Given the description of an element on the screen output the (x, y) to click on. 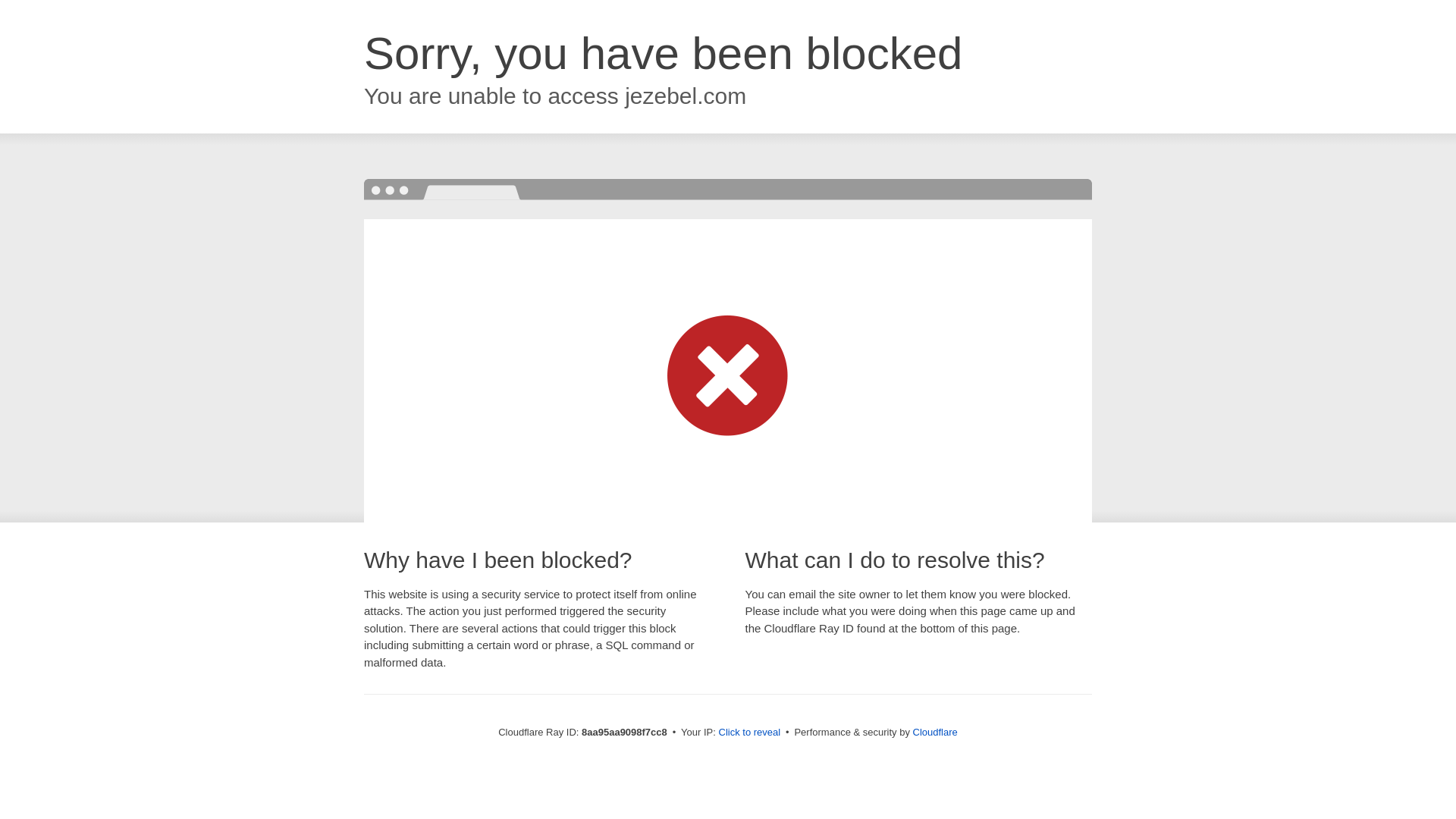
Cloudflare (935, 731)
Click to reveal (749, 732)
